Given the description of an element on the screen output the (x, y) to click on. 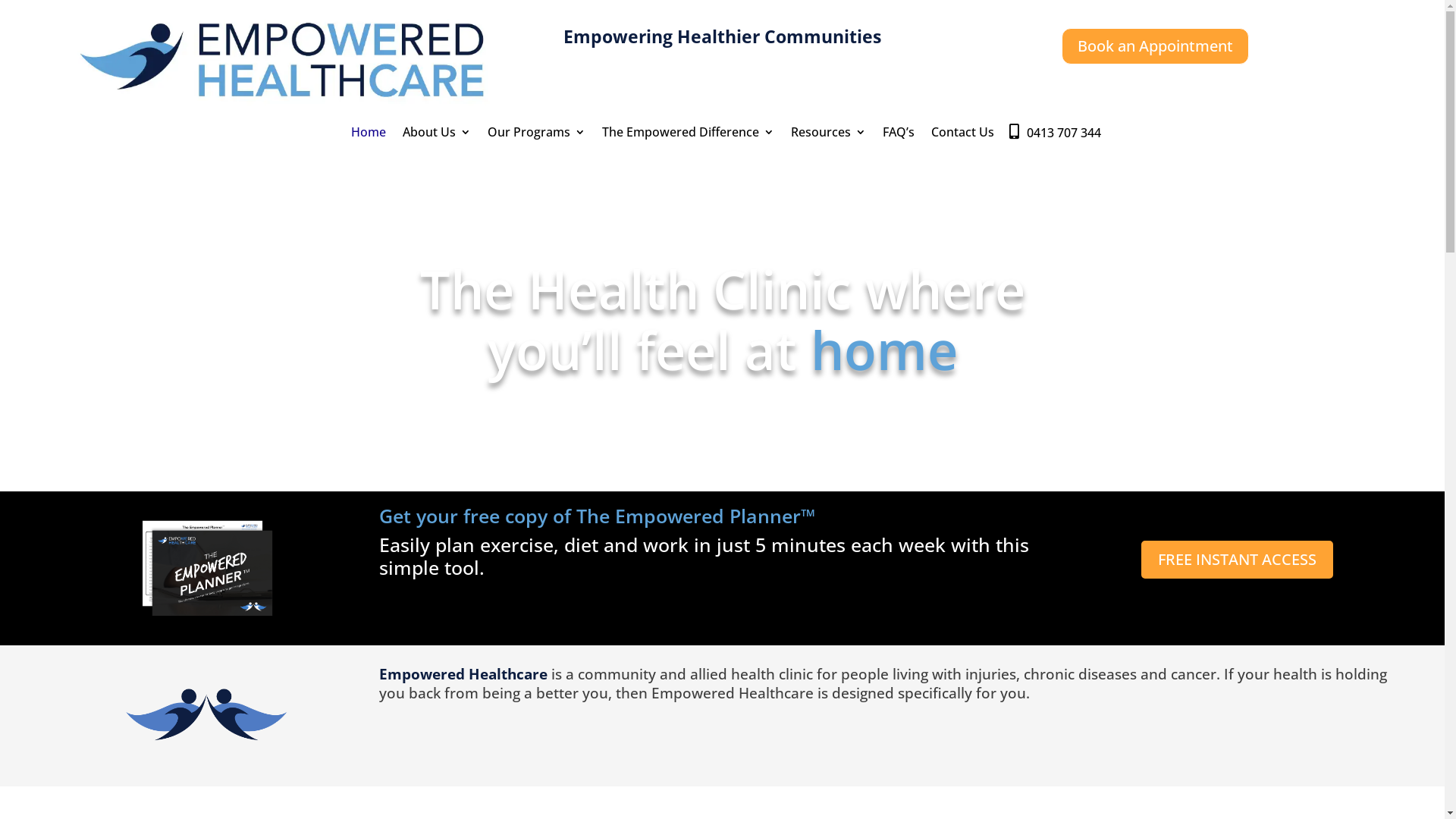
0413 707 344 Element type: text (1063, 132)
Contact Us Element type: text (962, 134)
Home Element type: text (368, 134)
Resources Element type: text (828, 134)
Screenshot_1 Element type: hover (288, 61)
The Empowered Difference Element type: text (688, 134)
About Us Element type: text (436, 134)
FREE INSTANT ACCESS Element type: text (1237, 559)
Book an Appointment Element type: text (1154, 46)
Our Programs Element type: text (536, 134)
